Given the description of an element on the screen output the (x, y) to click on. 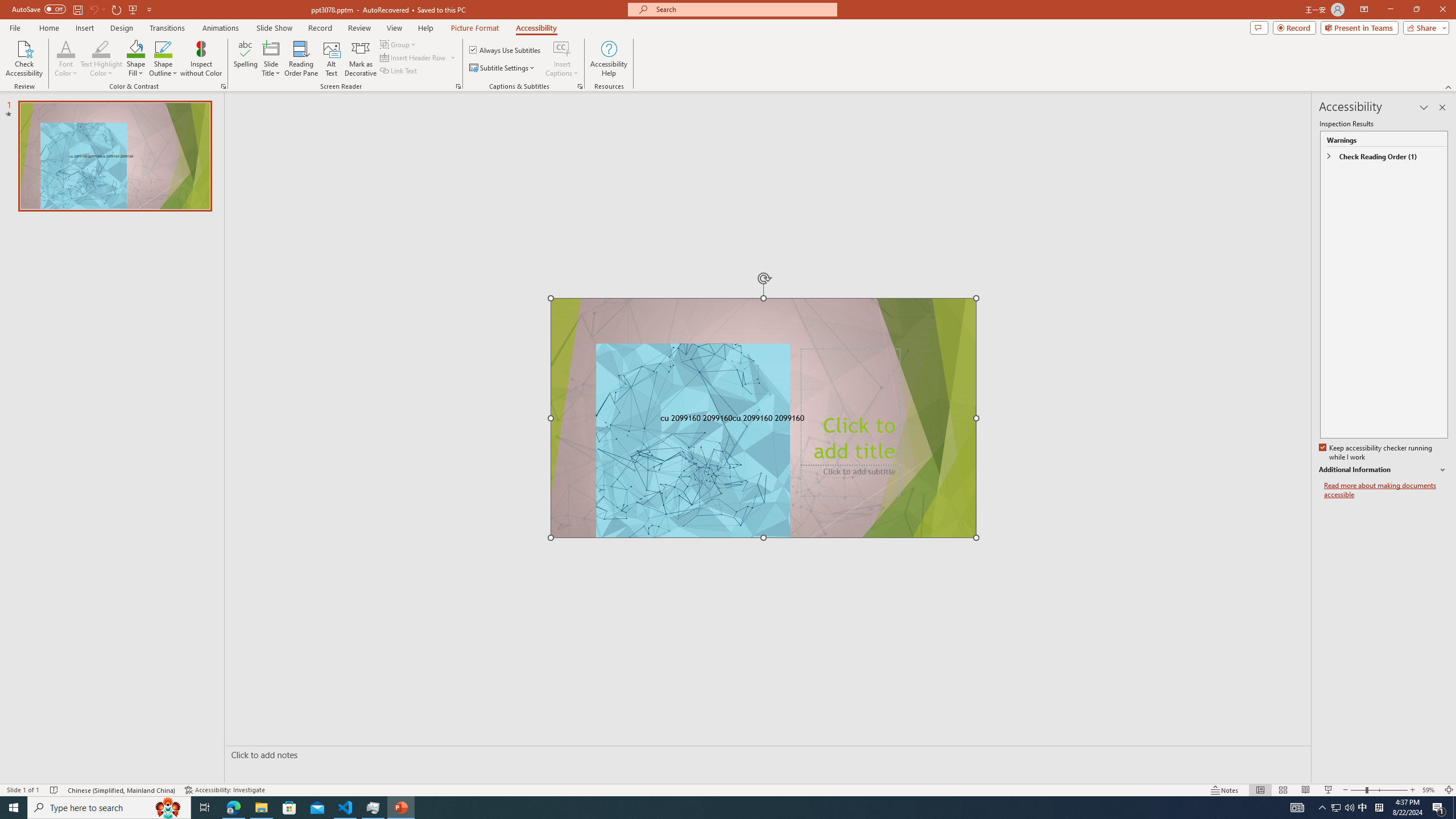
Insert Header Row (418, 56)
